Given the description of an element on the screen output the (x, y) to click on. 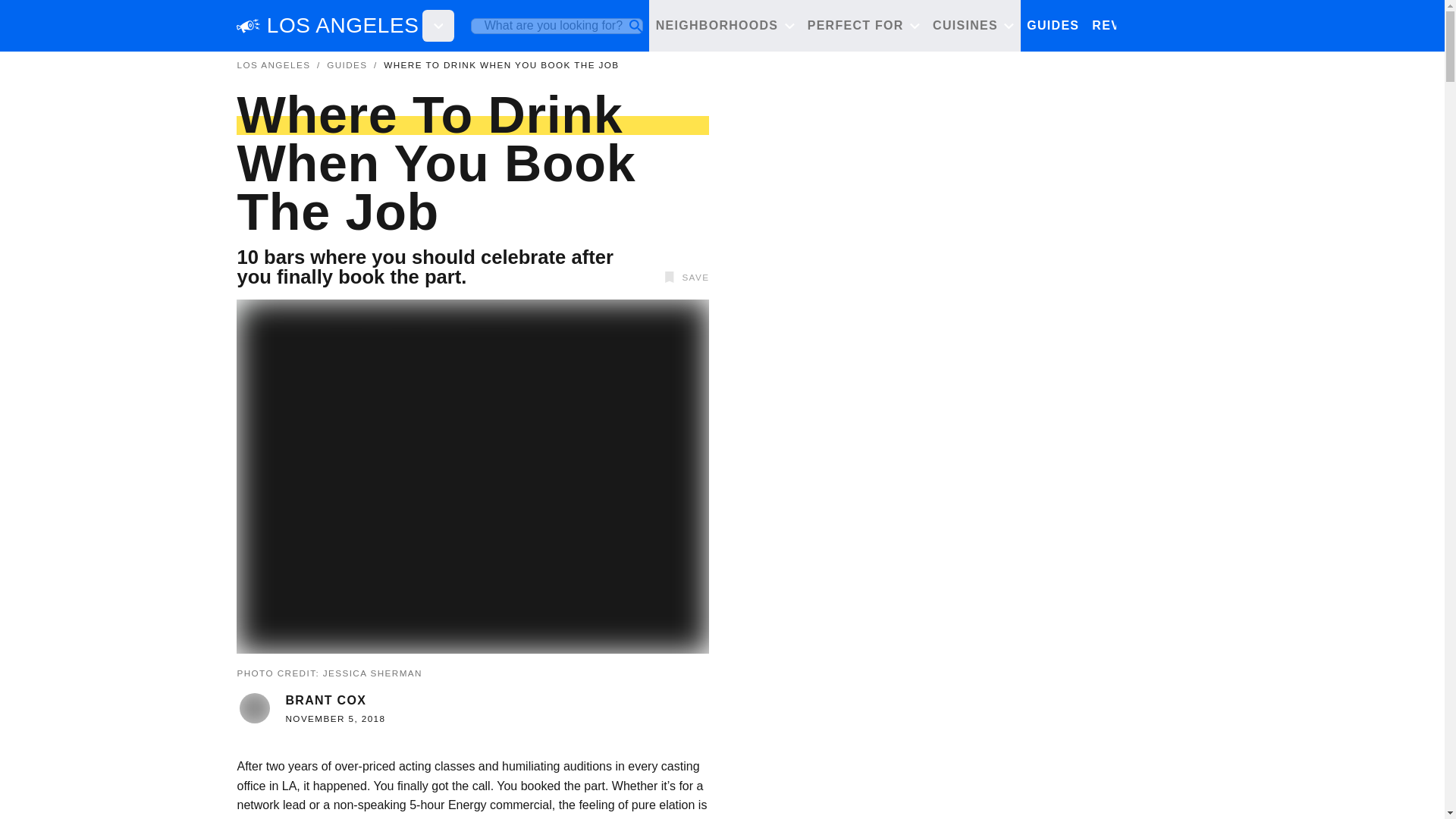
SAVE (684, 277)
CUISINES (973, 27)
REVIEWS (1123, 27)
GUIDES (1053, 27)
BRANT COX (325, 699)
PERFECT FOR (863, 27)
LOS ANGELES (342, 25)
NEIGHBORHOODS (724, 27)
What are you looking for? (556, 26)
LOS ANGELES (272, 64)
